Given the description of an element on the screen output the (x, y) to click on. 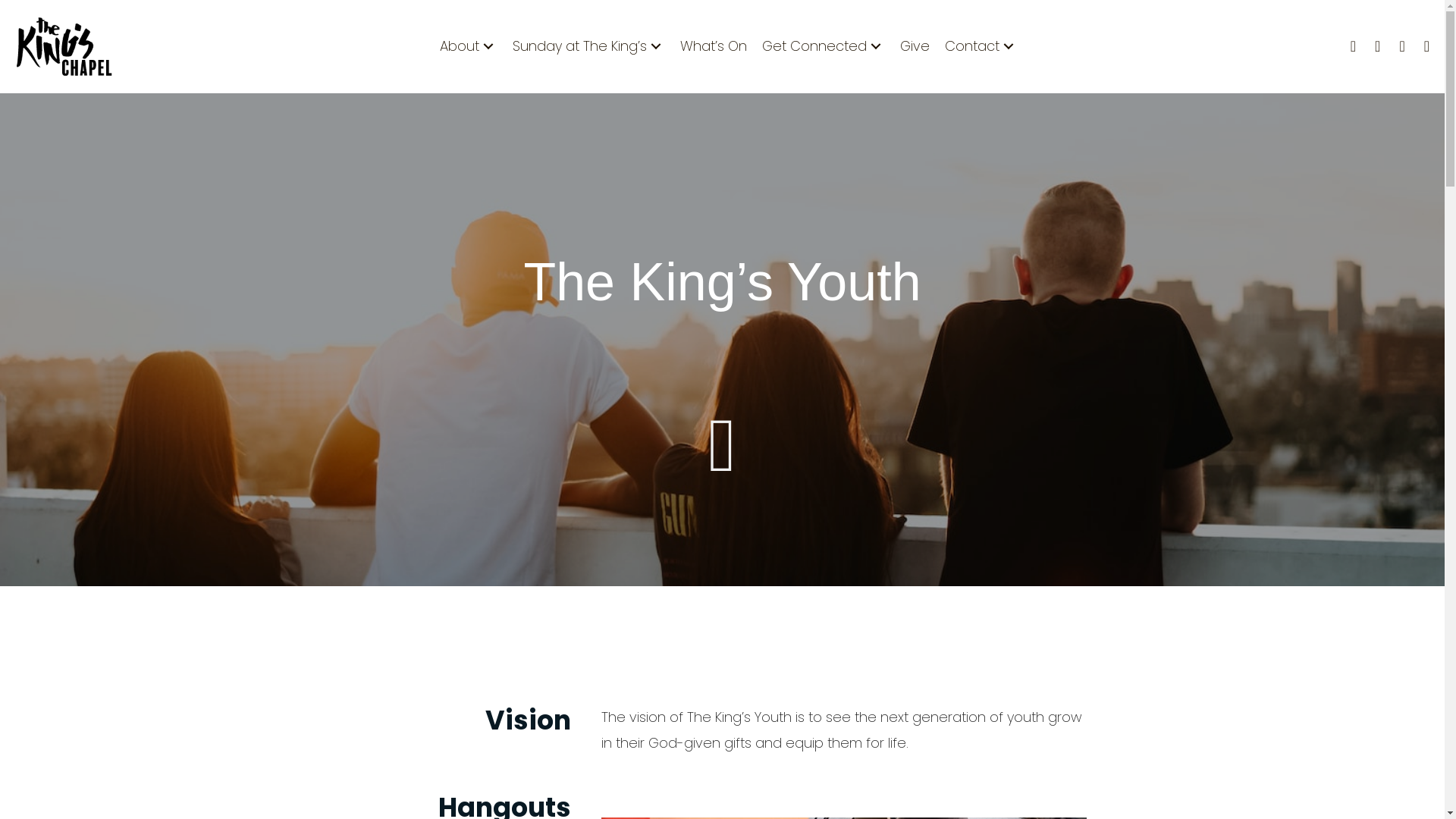
About Element type: text (468, 45)
Give Element type: text (914, 45)
Get Connected Element type: text (823, 45)
Contact Element type: text (981, 45)
TKC-Logo-Black Element type: hover (64, 46)
